Given the description of an element on the screen output the (x, y) to click on. 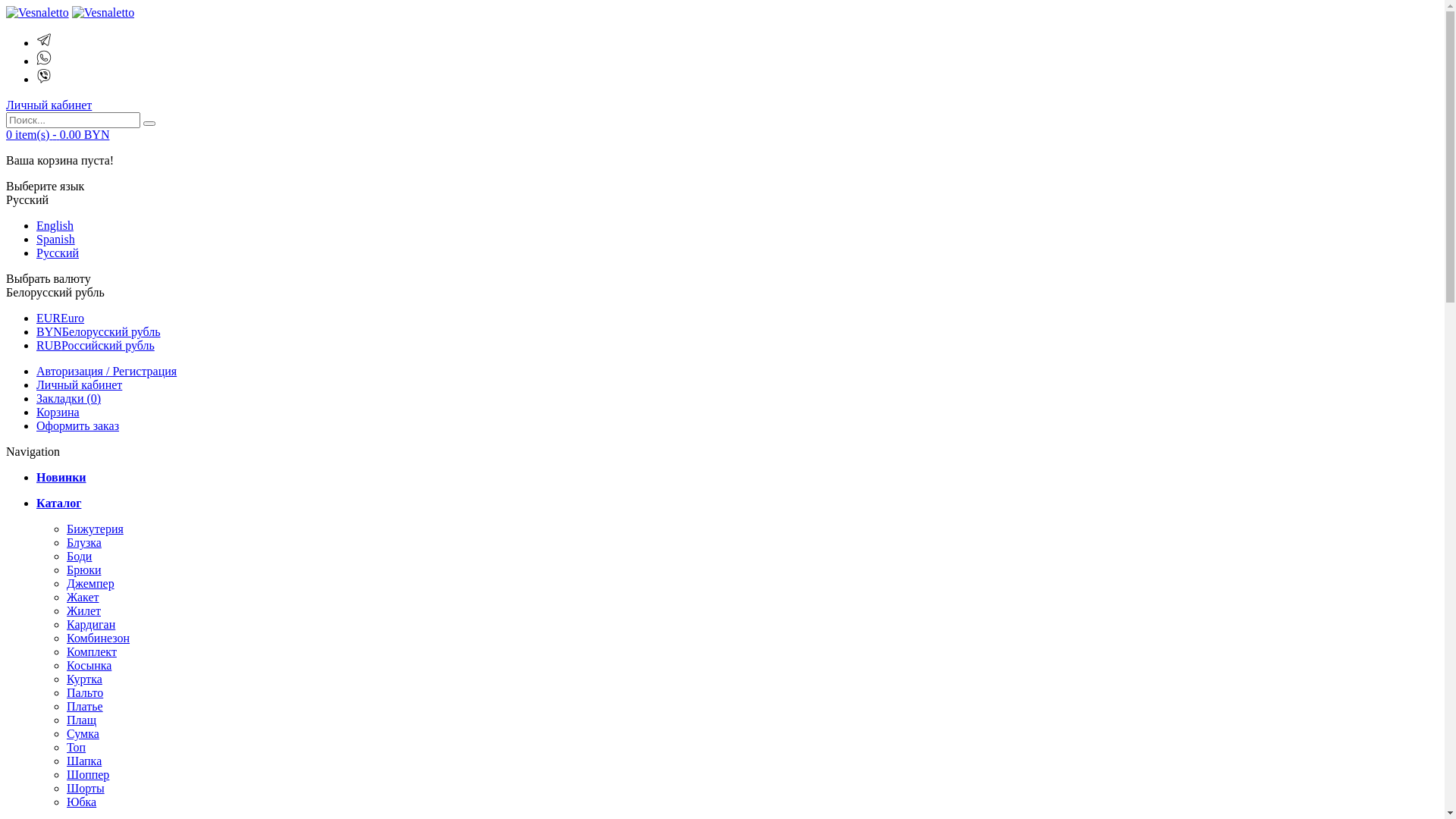
EUREuro Element type: text (60, 317)
English Element type: text (54, 225)
Vesnaletto Element type: hover (103, 12)
Spanish Element type: text (55, 238)
Vesnaletto Element type: hover (37, 12)
Search Element type: hover (149, 123)
0 item(s) - 0.00 BYN Element type: text (57, 134)
